Given the description of an element on the screen output the (x, y) to click on. 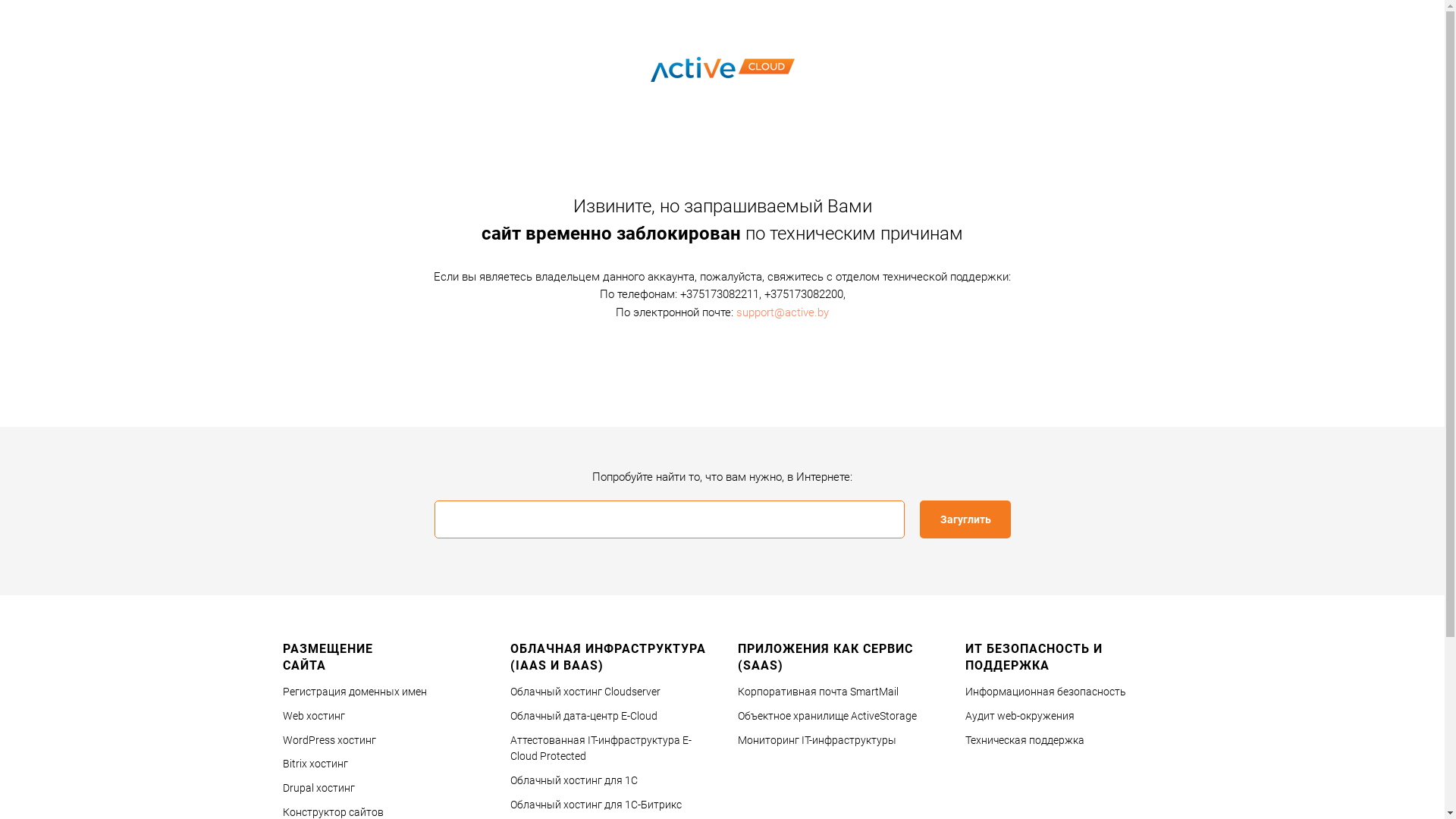
support@active.by Element type: text (782, 311)
+375173082211 Element type: text (718, 294)
+375173082200 Element type: text (803, 294)
